Given the description of an element on the screen output the (x, y) to click on. 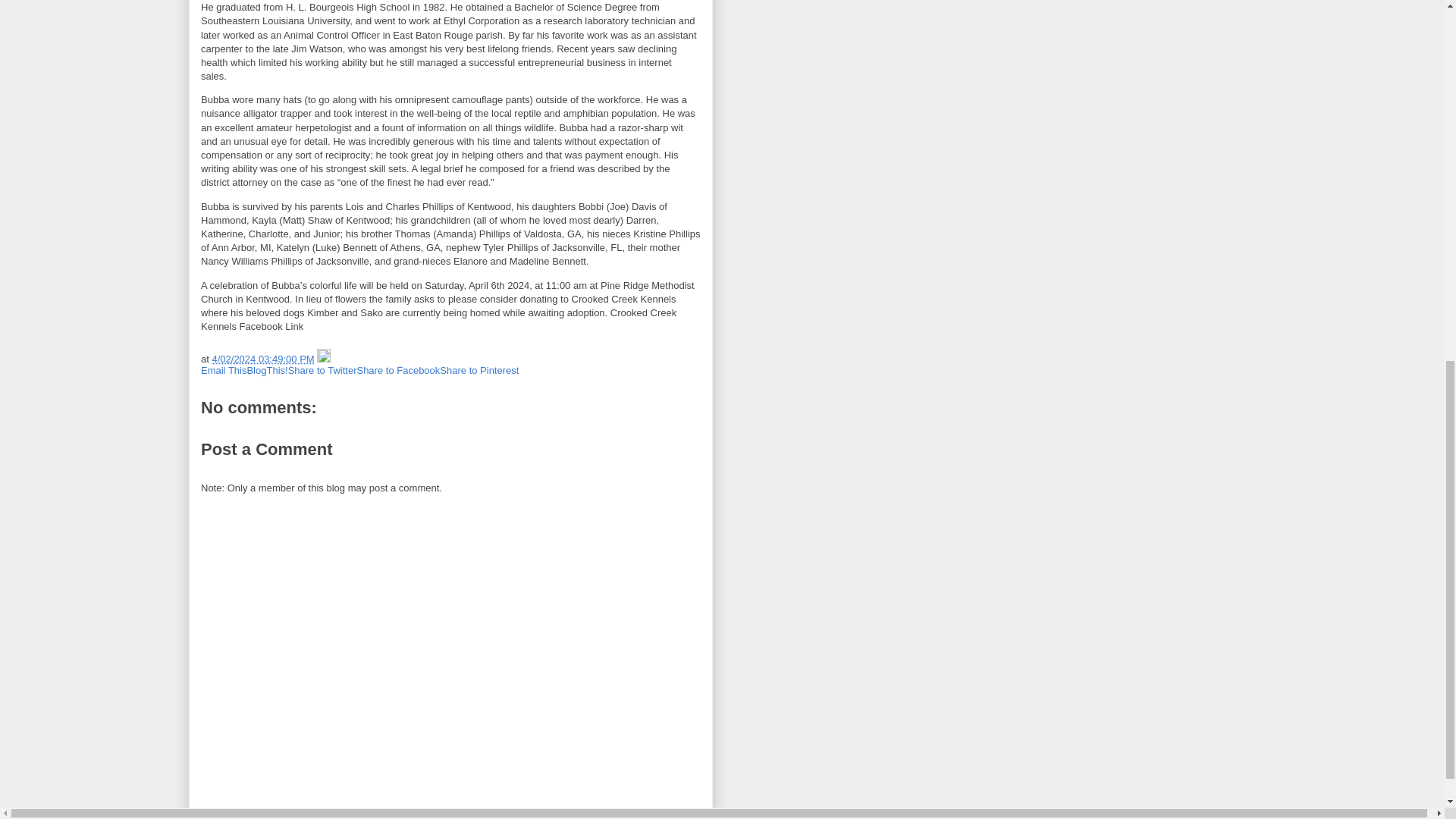
Edit Post (323, 358)
BlogThis! (266, 369)
Share to Pinterest (478, 369)
Share to Facebook (397, 369)
Share to Facebook (397, 369)
BlogThis! (266, 369)
Share to Twitter (322, 369)
permanent link (262, 358)
Email This (223, 369)
Share to Pinterest (478, 369)
